Given the description of an element on the screen output the (x, y) to click on. 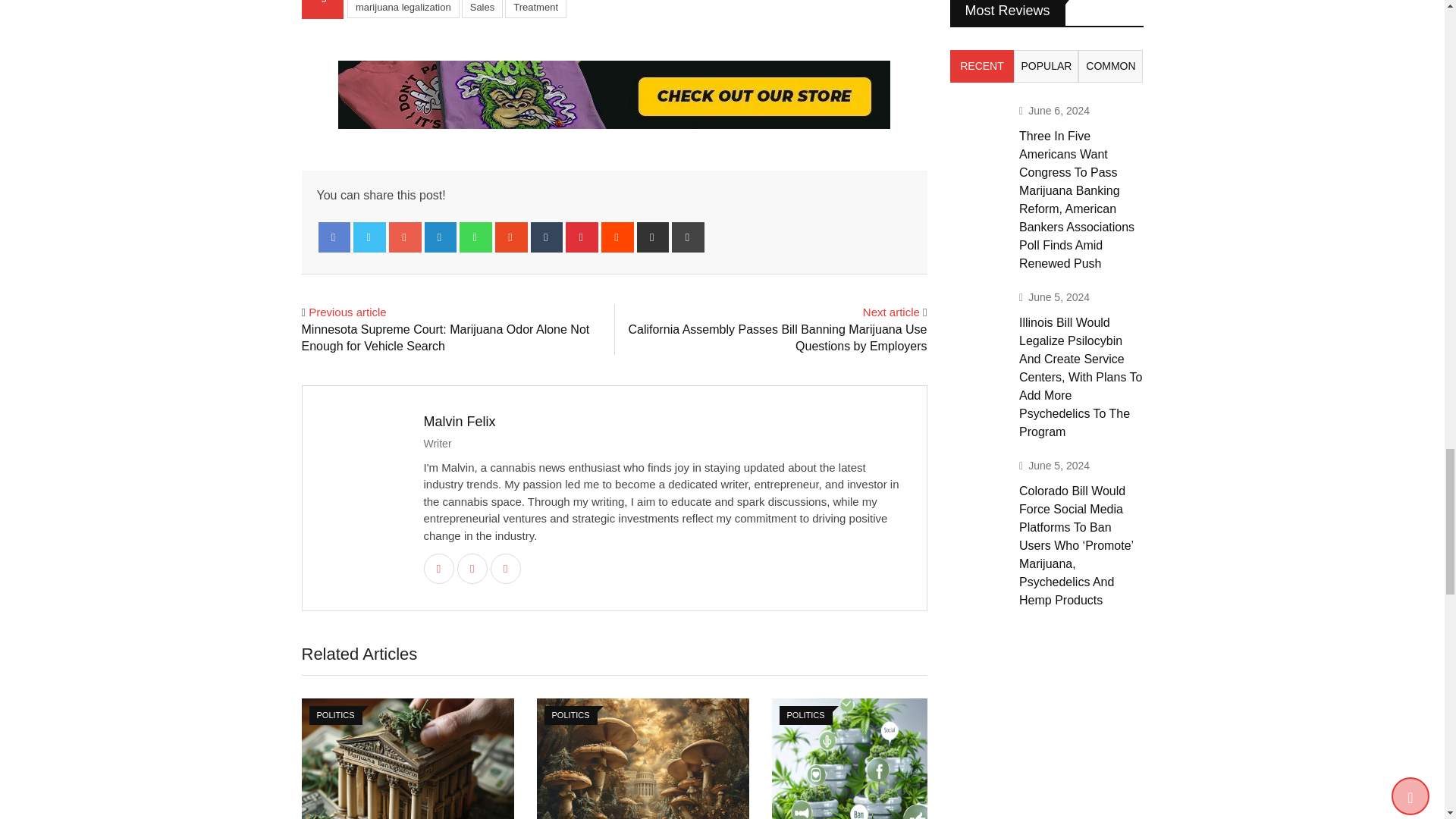
Posts by Malvin Felix (459, 421)
